Given the description of an element on the screen output the (x, y) to click on. 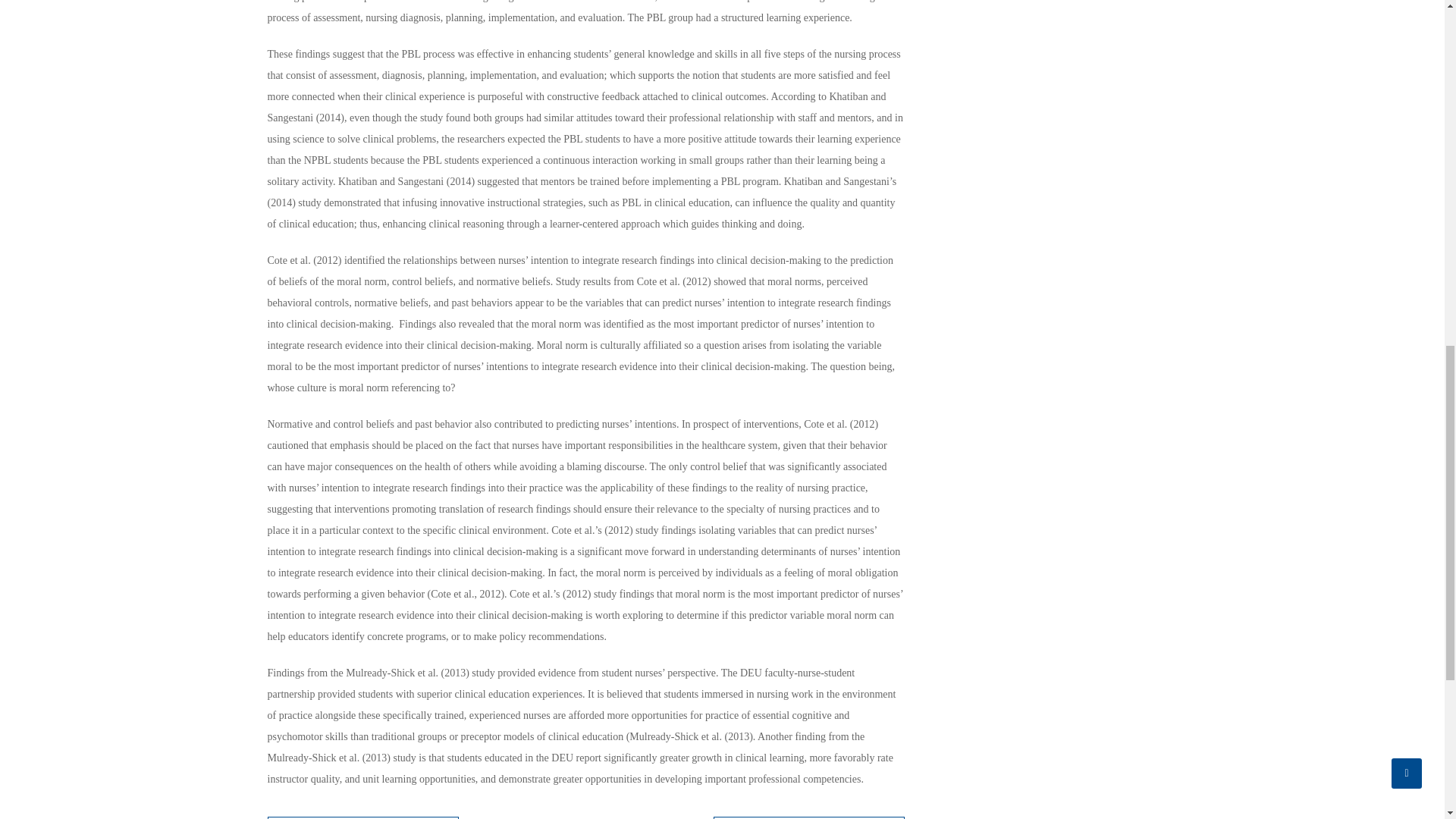
Comparative Analysis (362, 817)
Search (1129, 792)
